Given the description of an element on the screen output the (x, y) to click on. 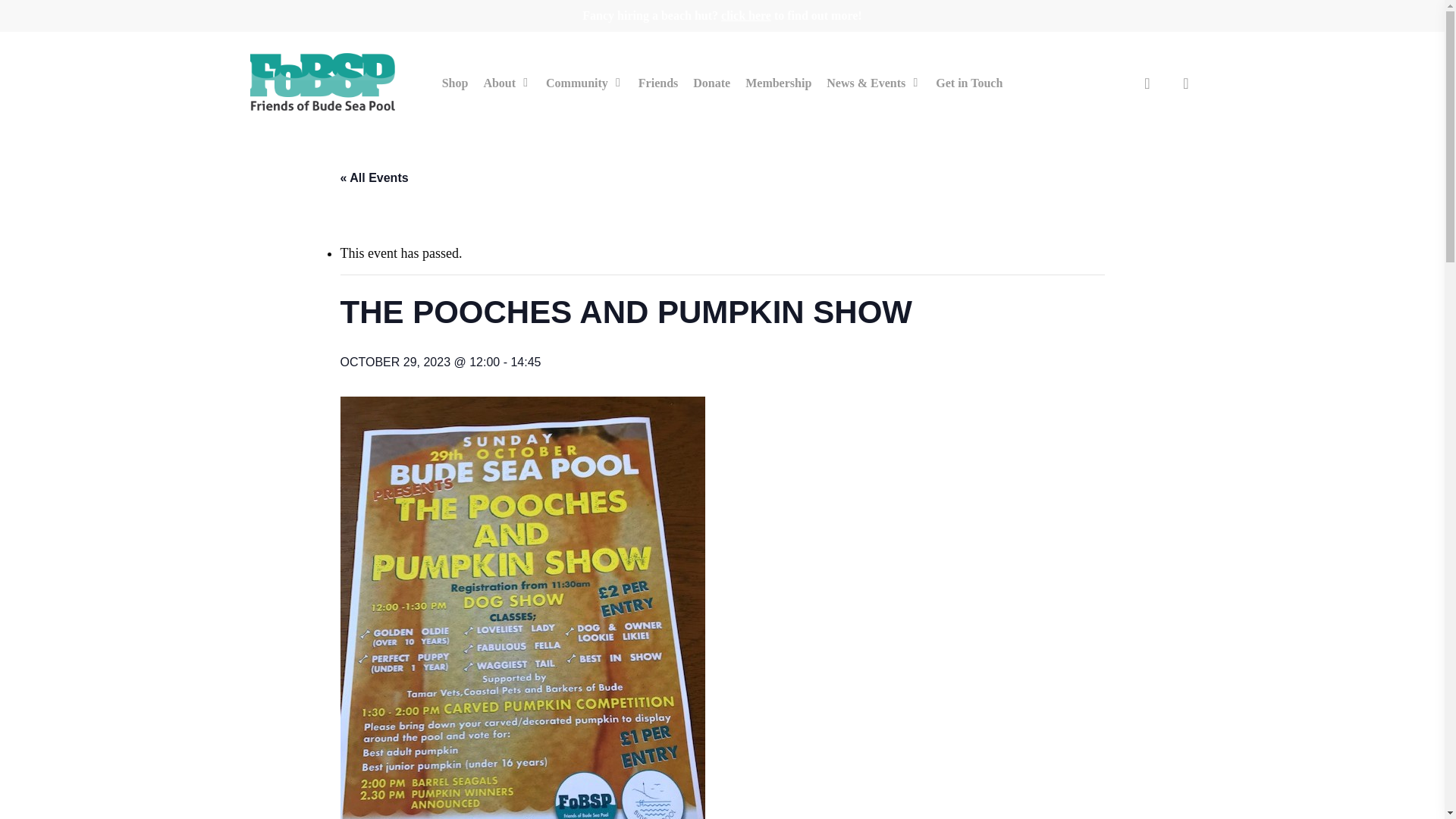
Shop (454, 83)
Community (584, 83)
click here (745, 15)
About (507, 83)
